Given the description of an element on the screen output the (x, y) to click on. 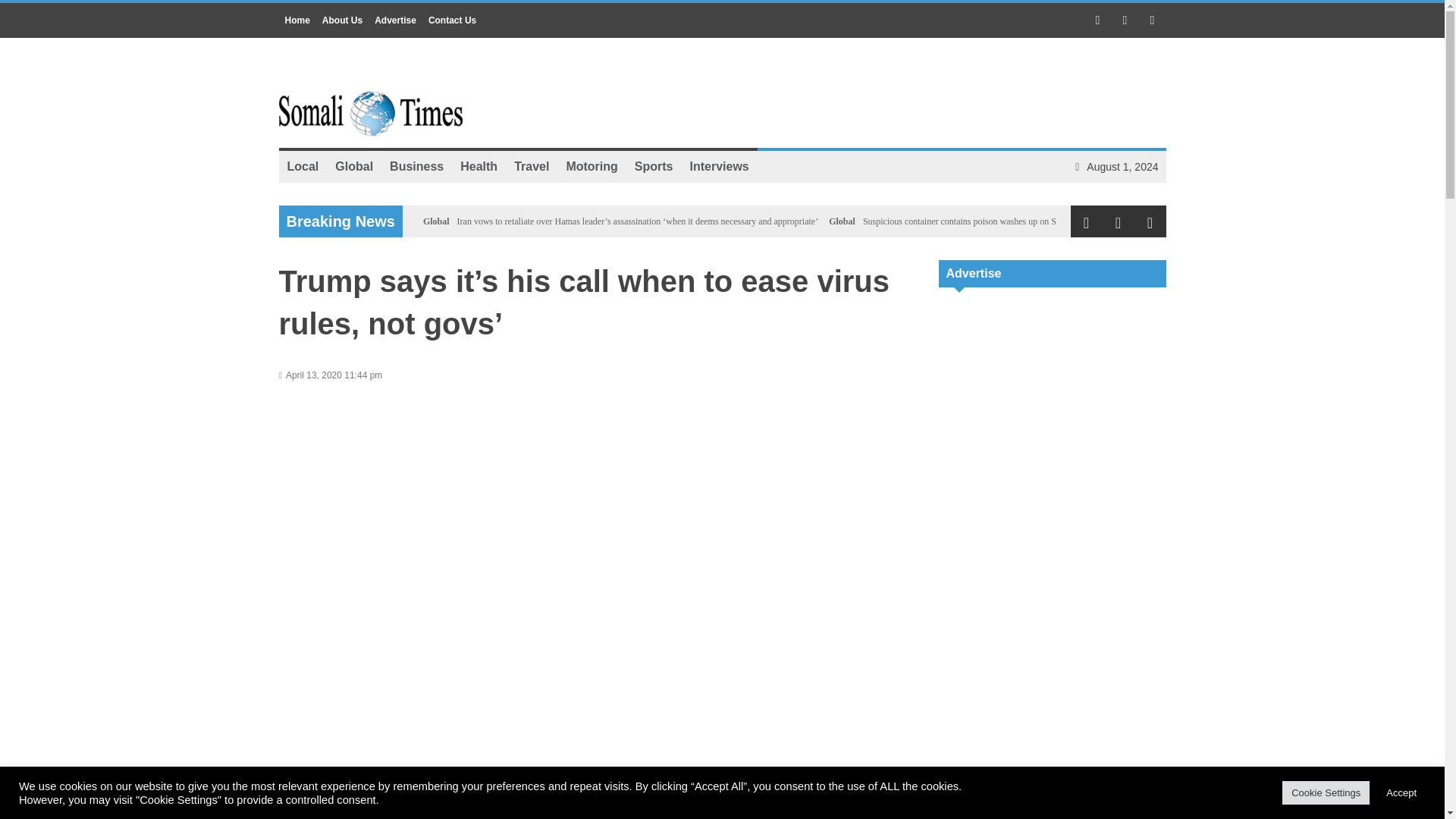
Home (297, 20)
Global (842, 221)
Sports (653, 166)
Global (353, 166)
Advertise (395, 20)
About Us (341, 20)
Global (436, 221)
Motoring (591, 166)
Travel (531, 166)
Business (416, 166)
Local (303, 166)
Health (478, 166)
Interviews (719, 166)
Contact Us (451, 20)
